Given the description of an element on the screen output the (x, y) to click on. 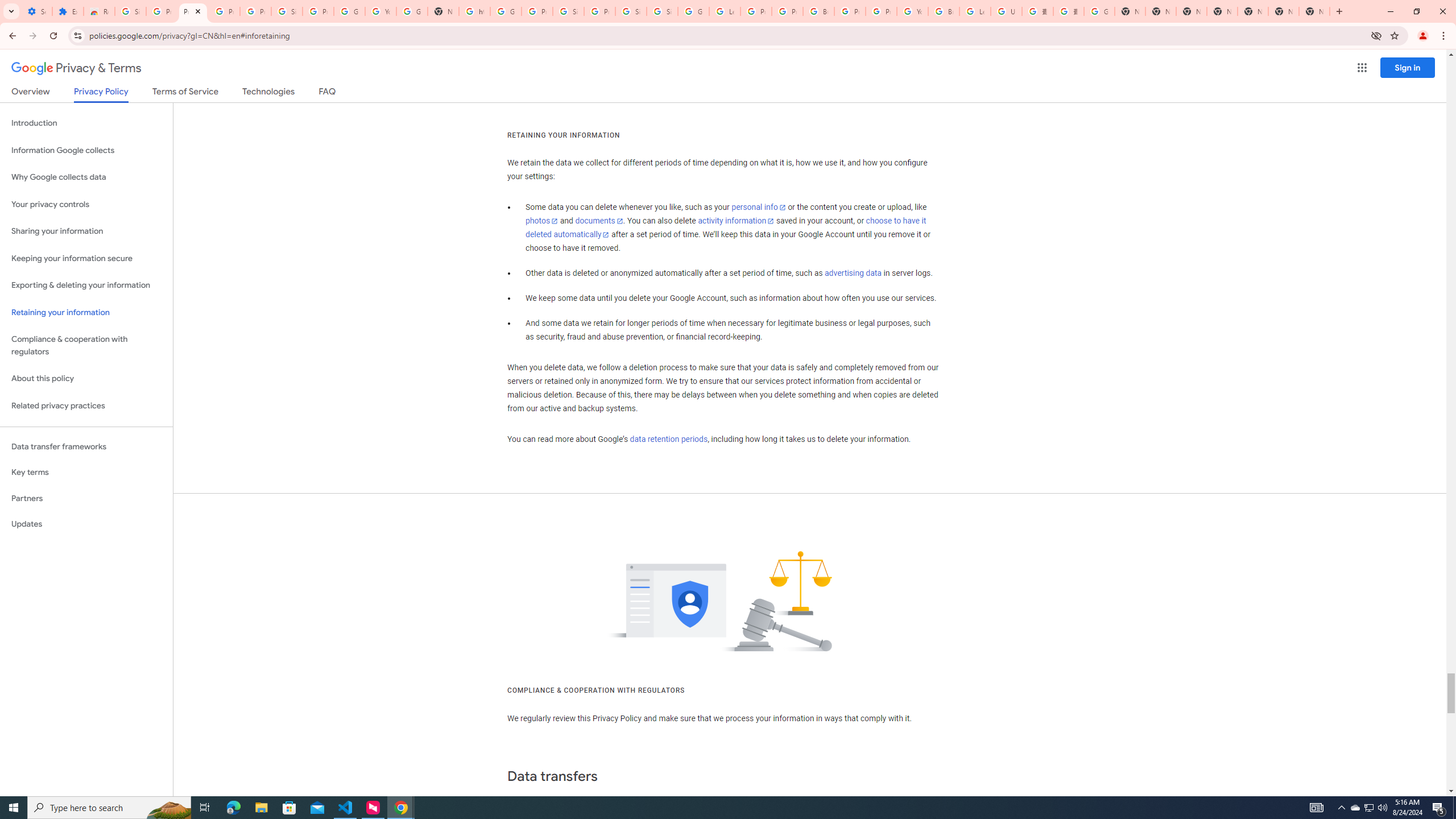
documents (599, 221)
Data transfer frameworks (86, 446)
Compliance & cooperation with regulators (86, 345)
Sharing your information (86, 230)
https://scholar.google.com/ (474, 11)
